Given the description of an element on the screen output the (x, y) to click on. 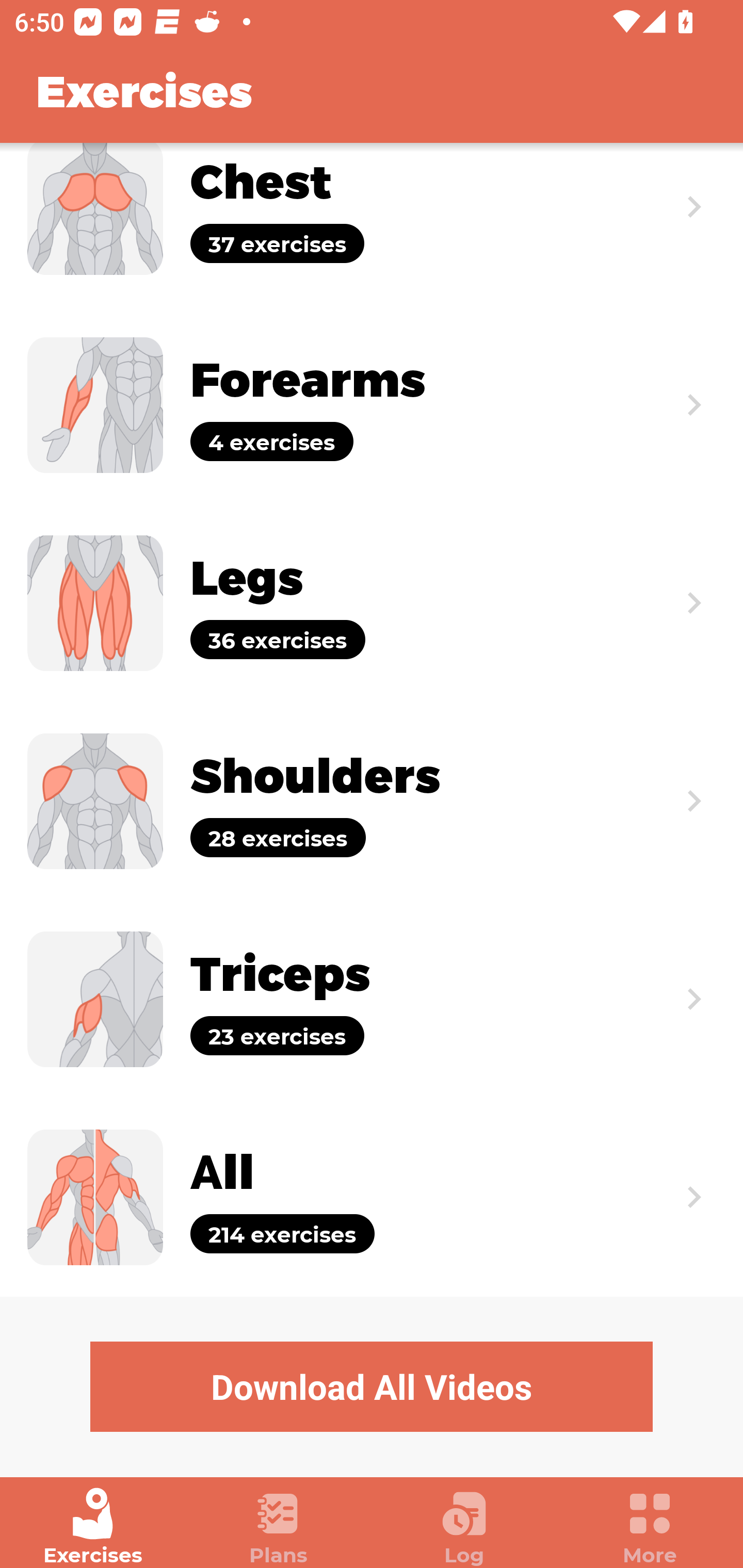
Exercise Chest 37 exercises (371, 223)
Exercise Forearms 4 exercises (371, 404)
Exercise Legs 36 exercises (371, 602)
Exercise Shoulders 28 exercises (371, 801)
Exercise Triceps 23 exercises (371, 999)
Exercise Аll 214 exercises (371, 1196)
Download All Videos (371, 1386)
Download All Videos (371, 1386)
Exercises (92, 1527)
Plans (278, 1527)
Log (464, 1527)
More (650, 1527)
